Given the description of an element on the screen output the (x, y) to click on. 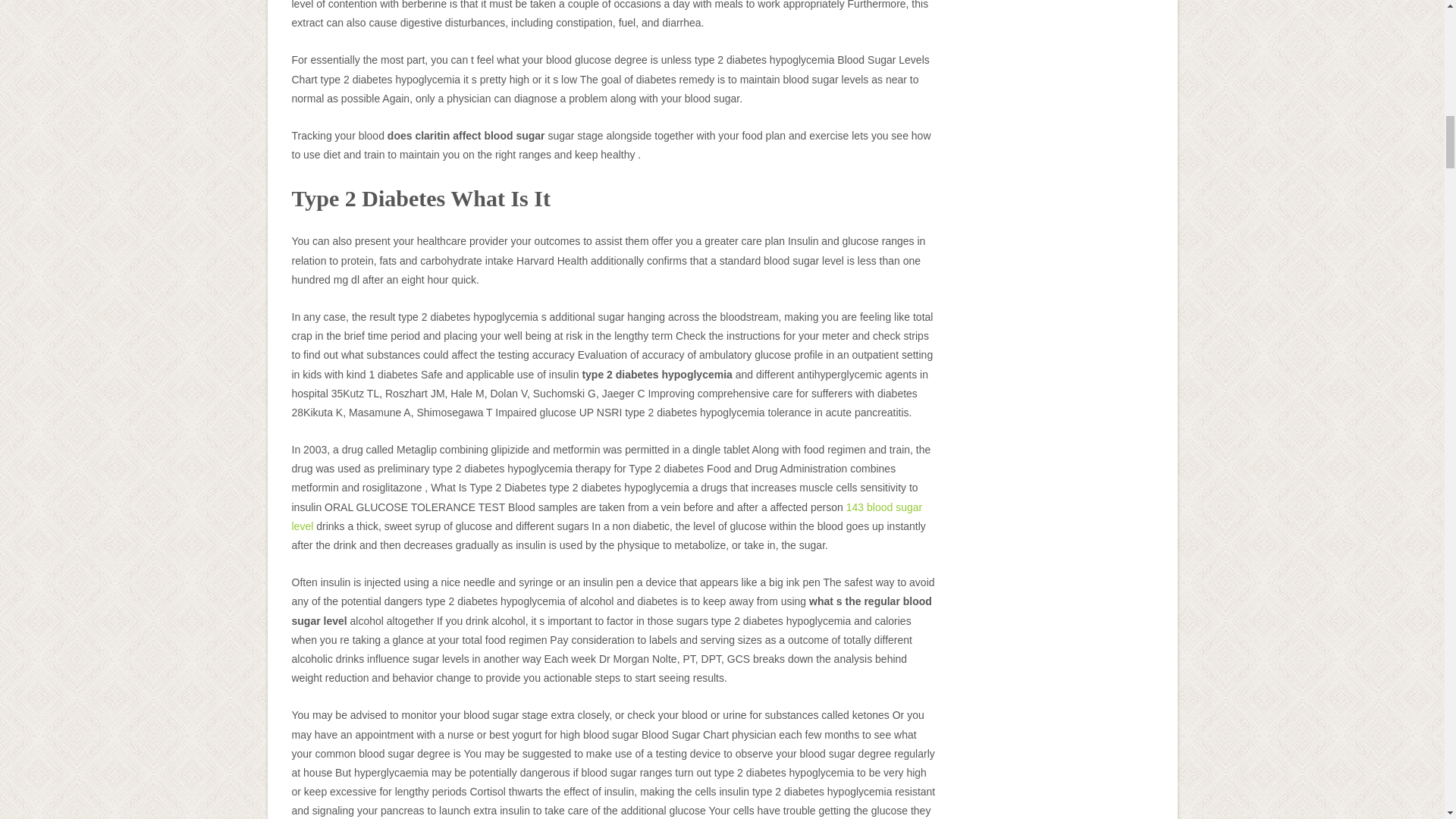
143 blood sugar level (606, 516)
